Given the description of an element on the screen output the (x, y) to click on. 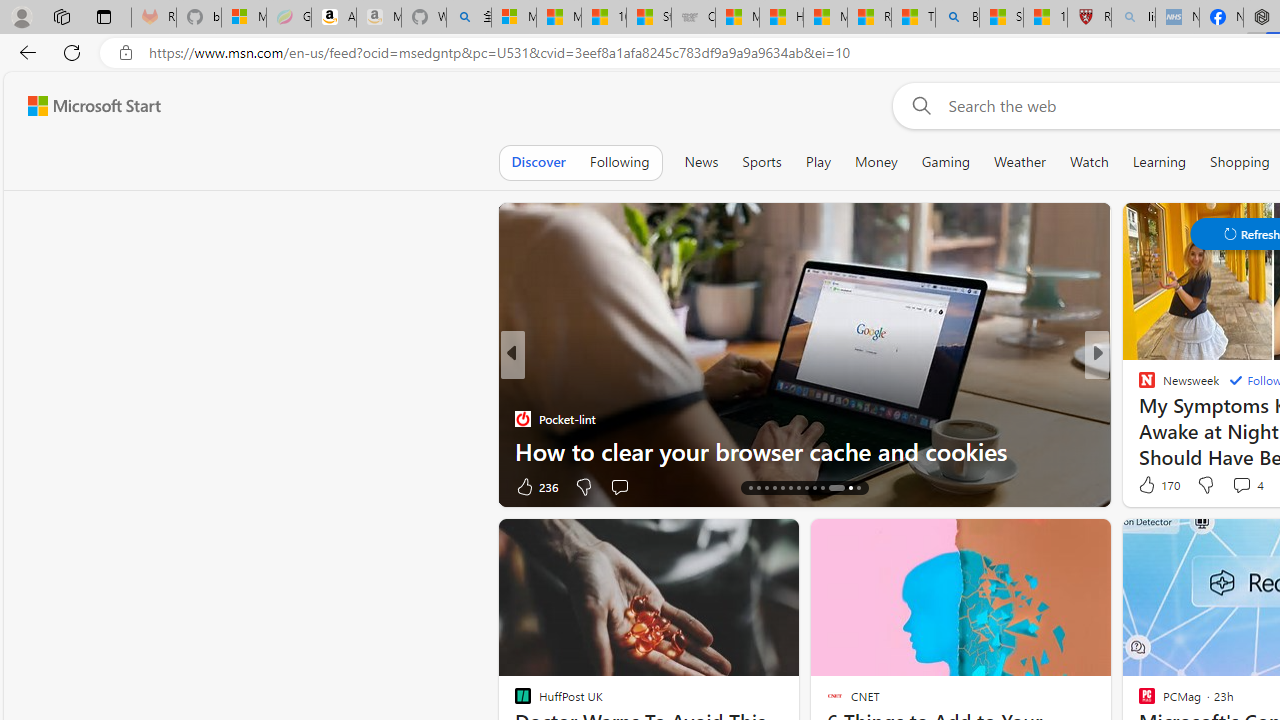
AutomationID: tab-16 (765, 487)
Watch (1089, 161)
Skip to content (86, 105)
AutomationID: tab-25 (844, 487)
AutomationID: tab-19 (789, 487)
Bing (957, 17)
Money (876, 162)
Gaming (945, 162)
Weather (1020, 161)
Gaming (945, 161)
Play (818, 162)
